Given the description of an element on the screen output the (x, y) to click on. 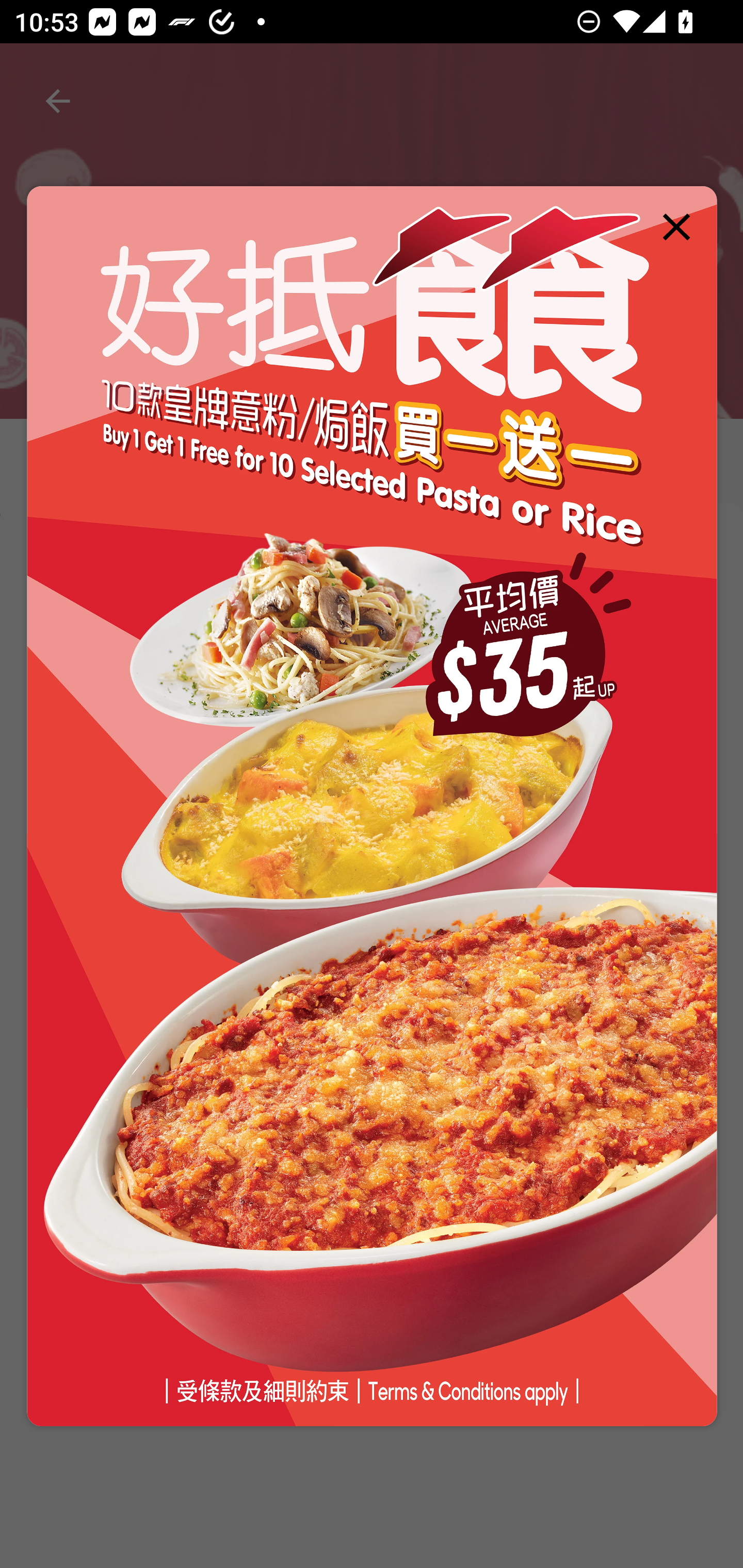
Modal Message Close Message Modal Image (371, 806)
Close Message (677, 226)
